Given the description of an element on the screen output the (x, y) to click on. 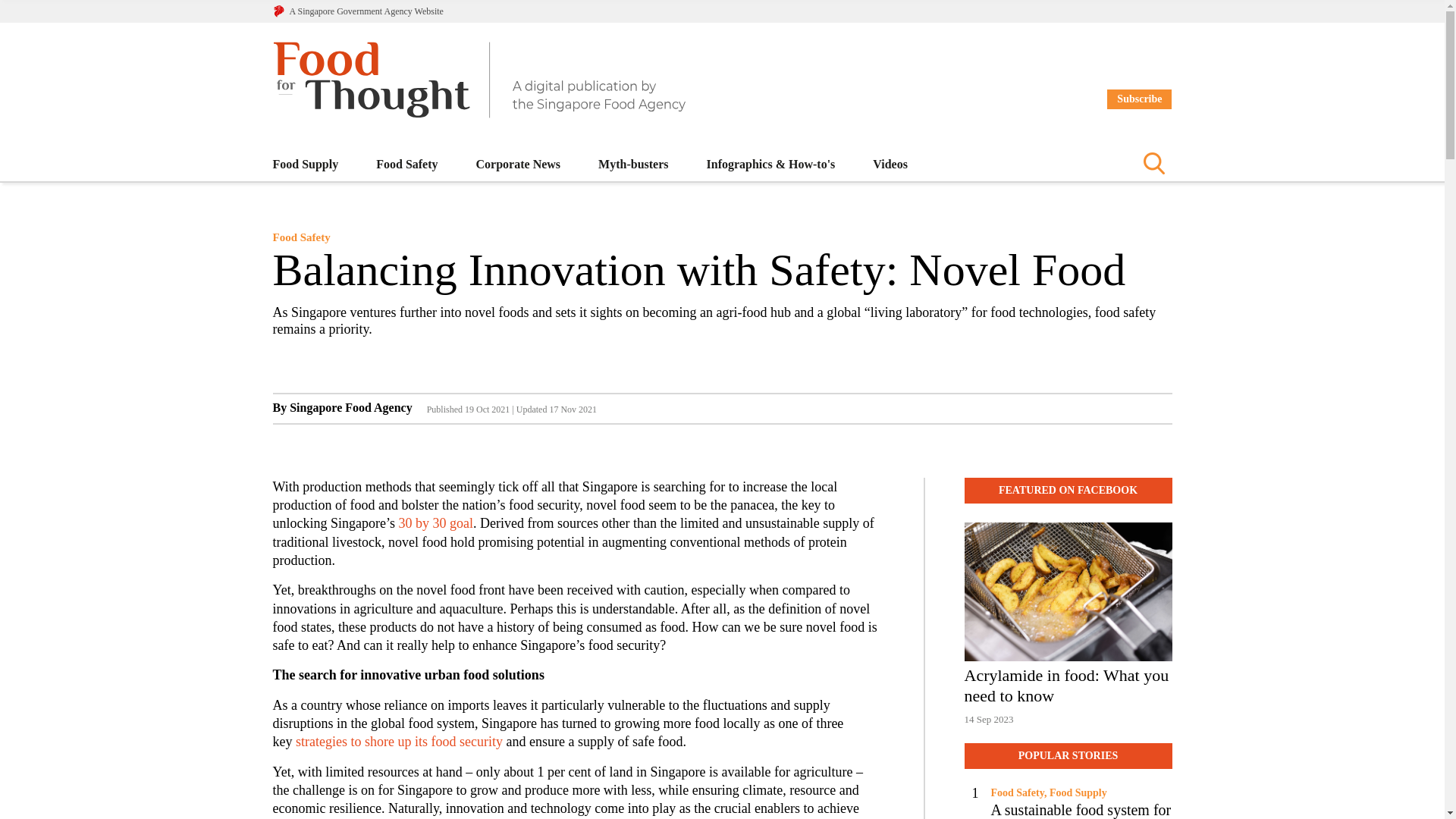
Food Supply (306, 164)
Corporate News (518, 164)
Food Supply (306, 164)
Videos (889, 164)
strategies to shore up its food security (398, 741)
Food Safety (406, 164)
Myth-busters (1067, 622)
A Singapore Government Agency Website (633, 164)
